Given the description of an element on the screen output the (x, y) to click on. 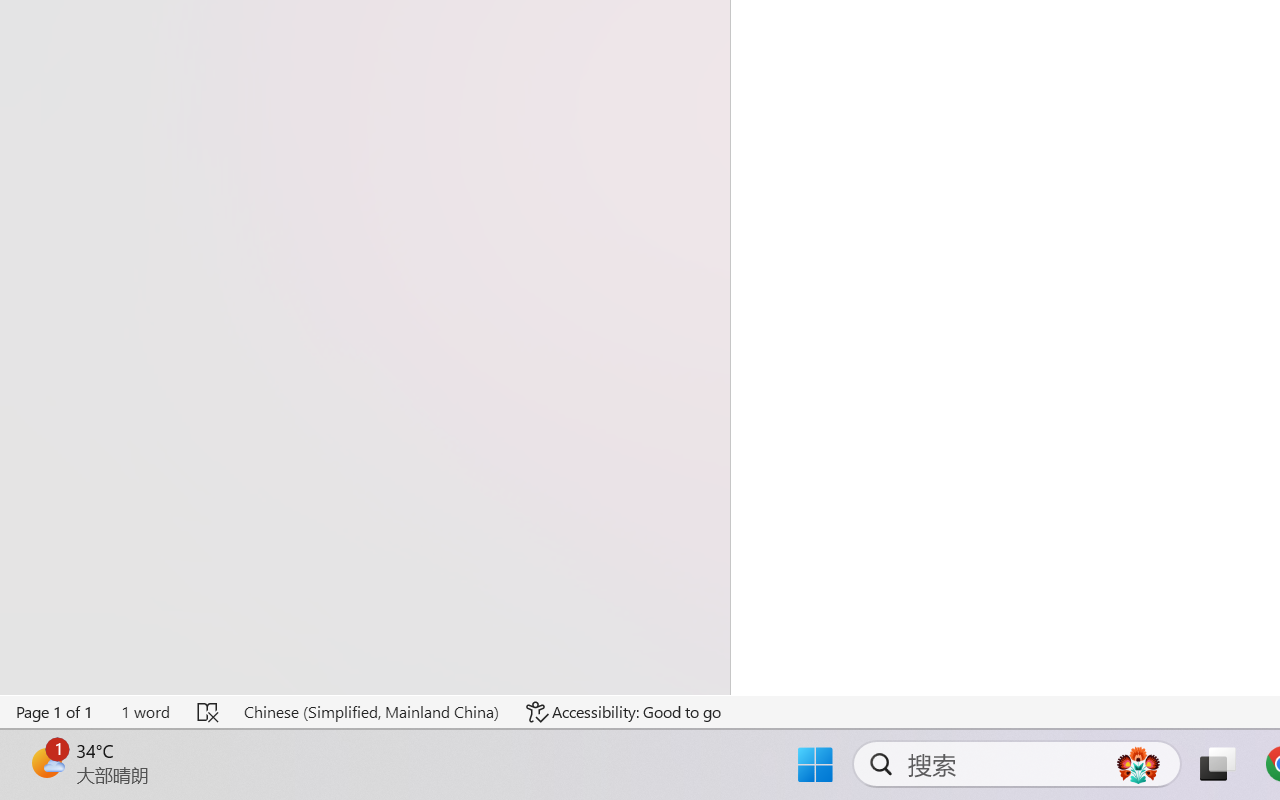
Language Chinese (Simplified, Mainland China) (370, 712)
Spelling and Grammar Check Errors (208, 712)
